Given the description of an element on the screen output the (x, y) to click on. 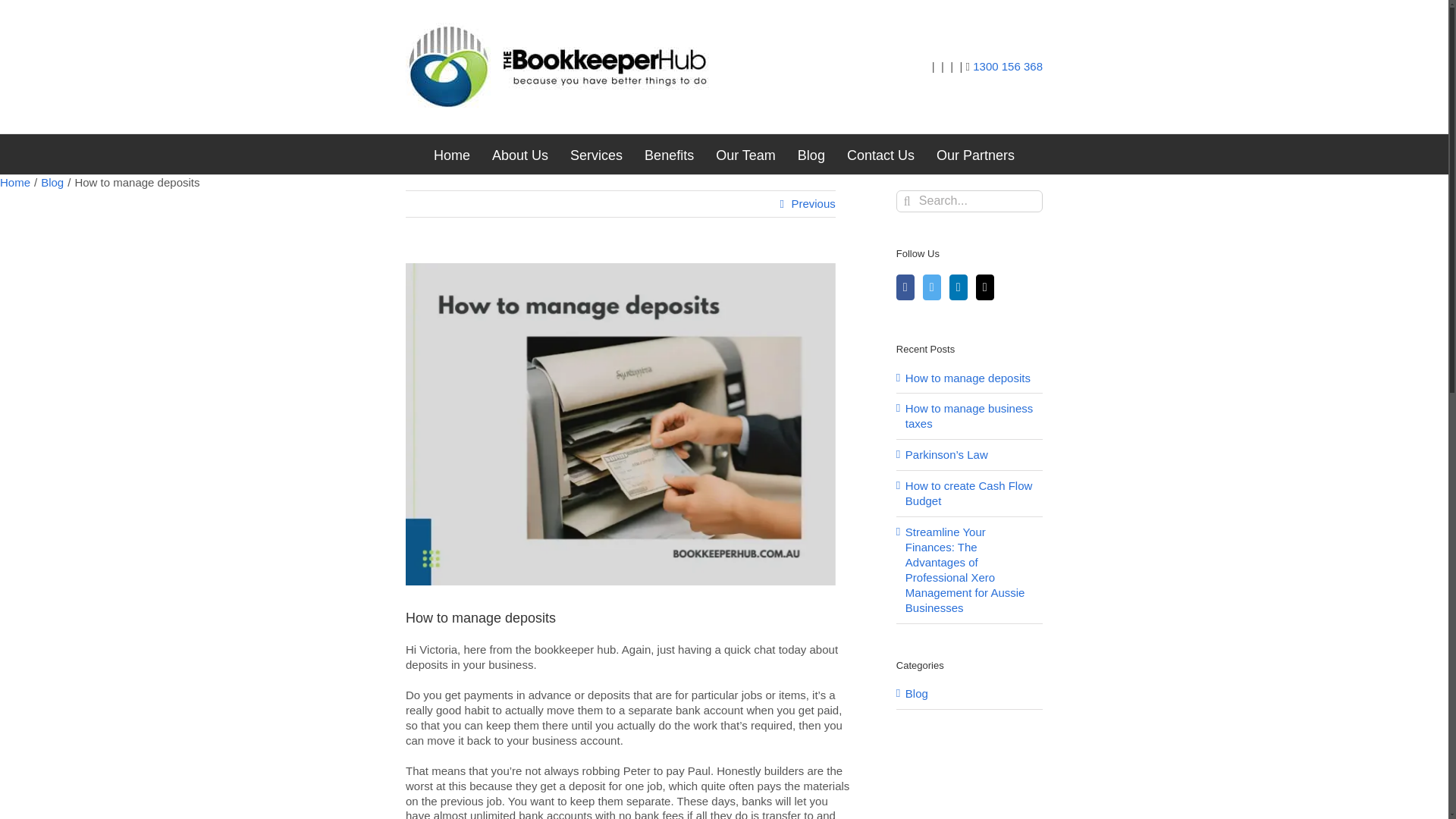
Home (451, 154)
Home (15, 182)
Contact Us (880, 154)
Our Partners (975, 154)
About Us (520, 154)
Services (596, 154)
Benefits (669, 154)
Blog (52, 182)
Previous (812, 203)
1300 156 368 (1007, 66)
Our Team (746, 154)
